Given the description of an element on the screen output the (x, y) to click on. 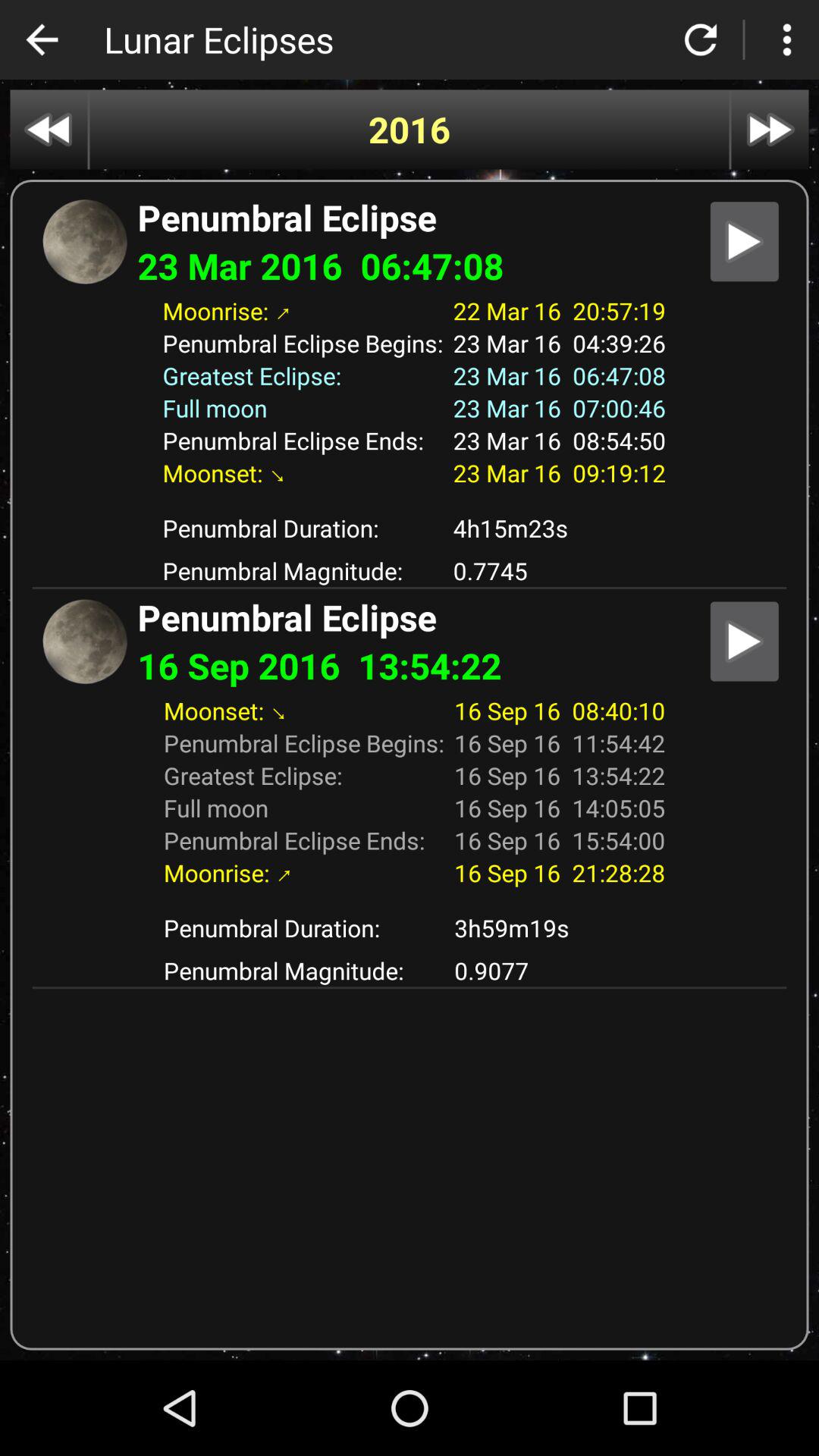
customize the control google chrome (787, 39)
